Given the description of an element on the screen output the (x, y) to click on. 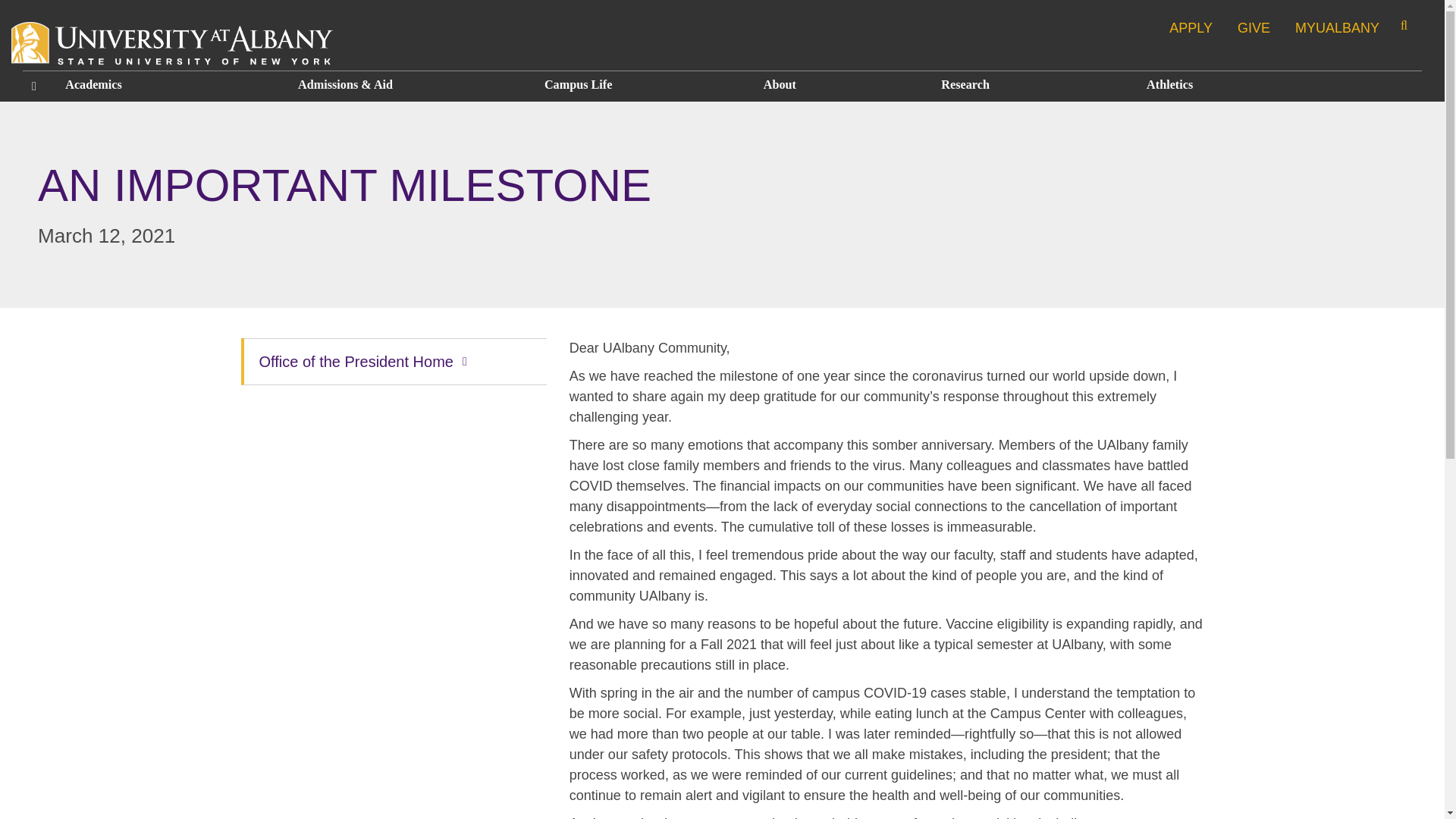
GIVE (1253, 27)
Academics (168, 85)
About (840, 85)
APPLY (1190, 27)
Donate to the University (1253, 27)
Link to Faculty and Staff Portal (1337, 27)
Apply to the University (1190, 27)
Campus Life (641, 85)
MYUALBANY (1337, 27)
